Given the description of an element on the screen output the (x, y) to click on. 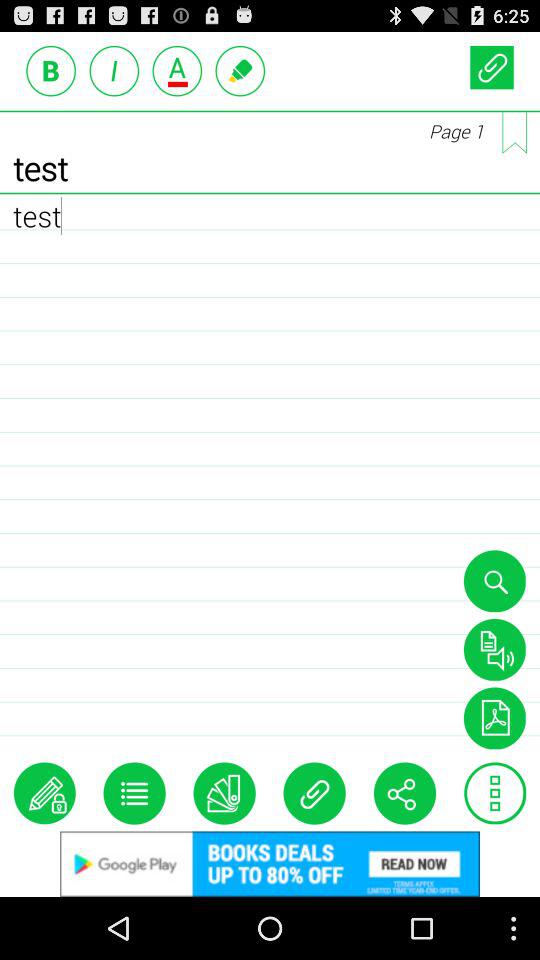
spear (494, 649)
